Given the description of an element on the screen output the (x, y) to click on. 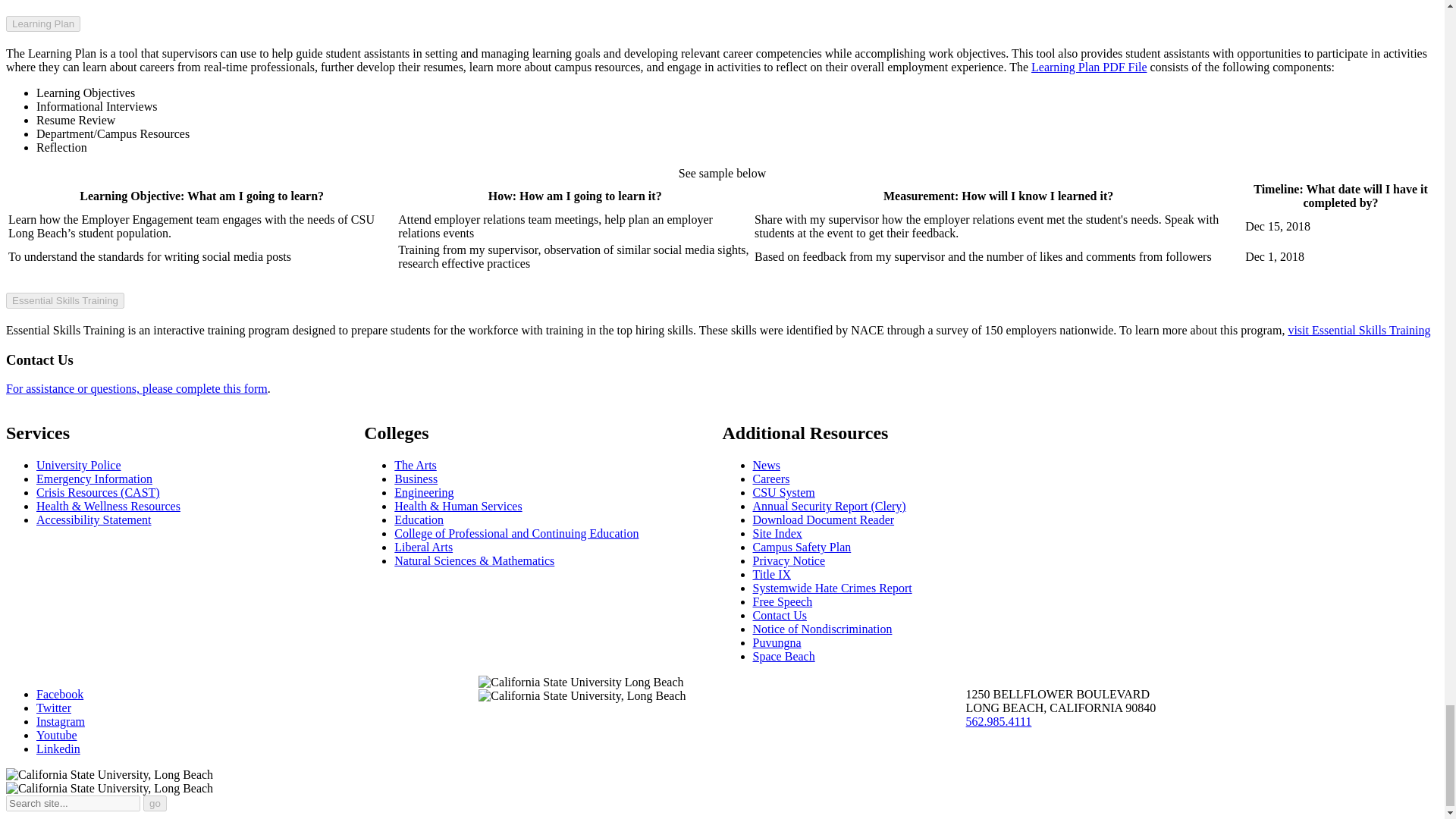
Title IX (771, 574)
go (154, 803)
For assistance or questions (136, 388)
Essential Skills Training (1358, 329)
